Given the description of an element on the screen output the (x, y) to click on. 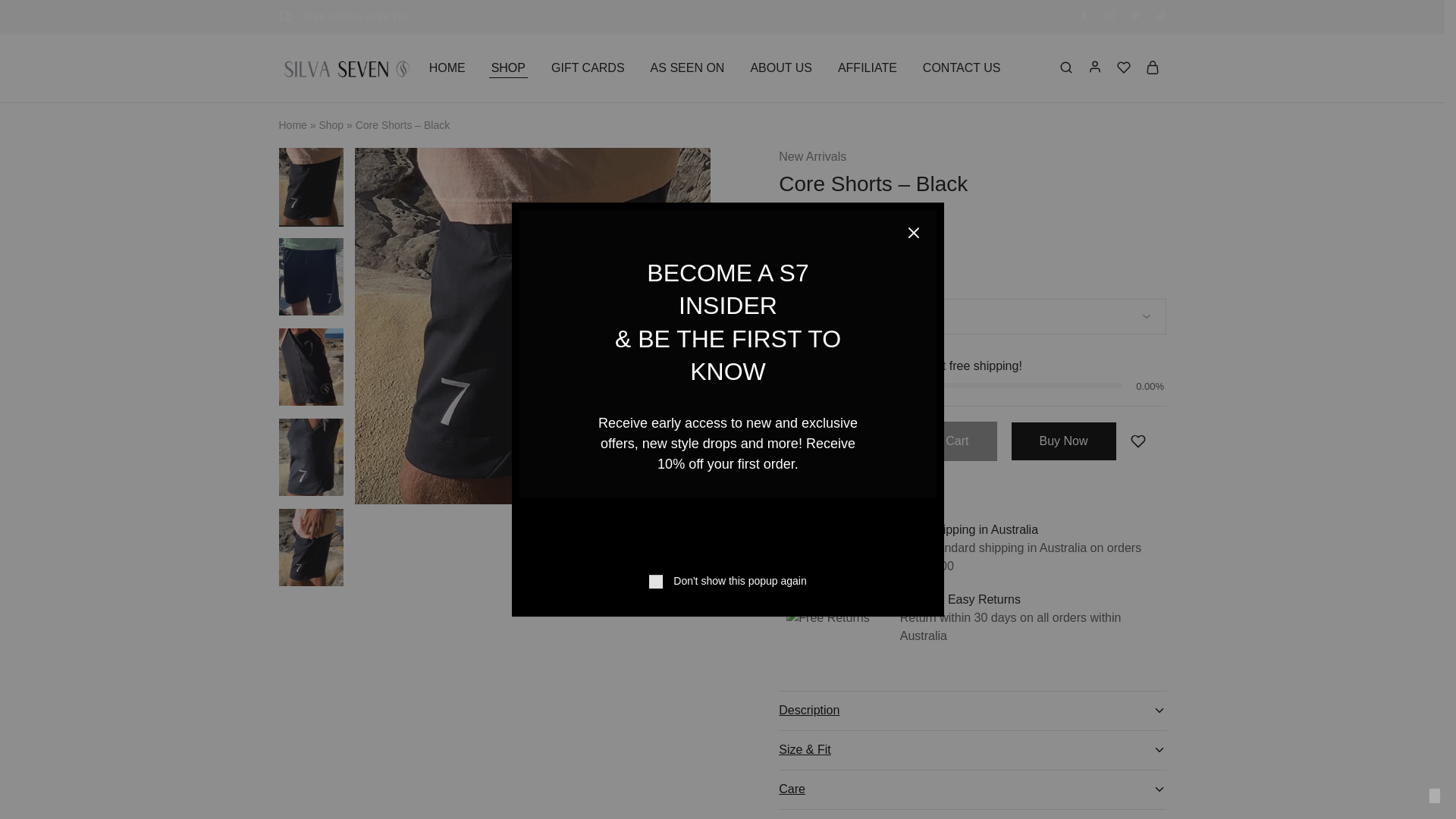
1 (819, 441)
GIFT CARDS (587, 67)
New Arrivals (811, 157)
AS SEEN ON (686, 67)
ABOUT US (780, 67)
Home (293, 124)
HOME (446, 67)
Shop (330, 124)
CONTACT US (961, 67)
SHOP (508, 67)
AFFILIATE (867, 67)
